Given the description of an element on the screen output the (x, y) to click on. 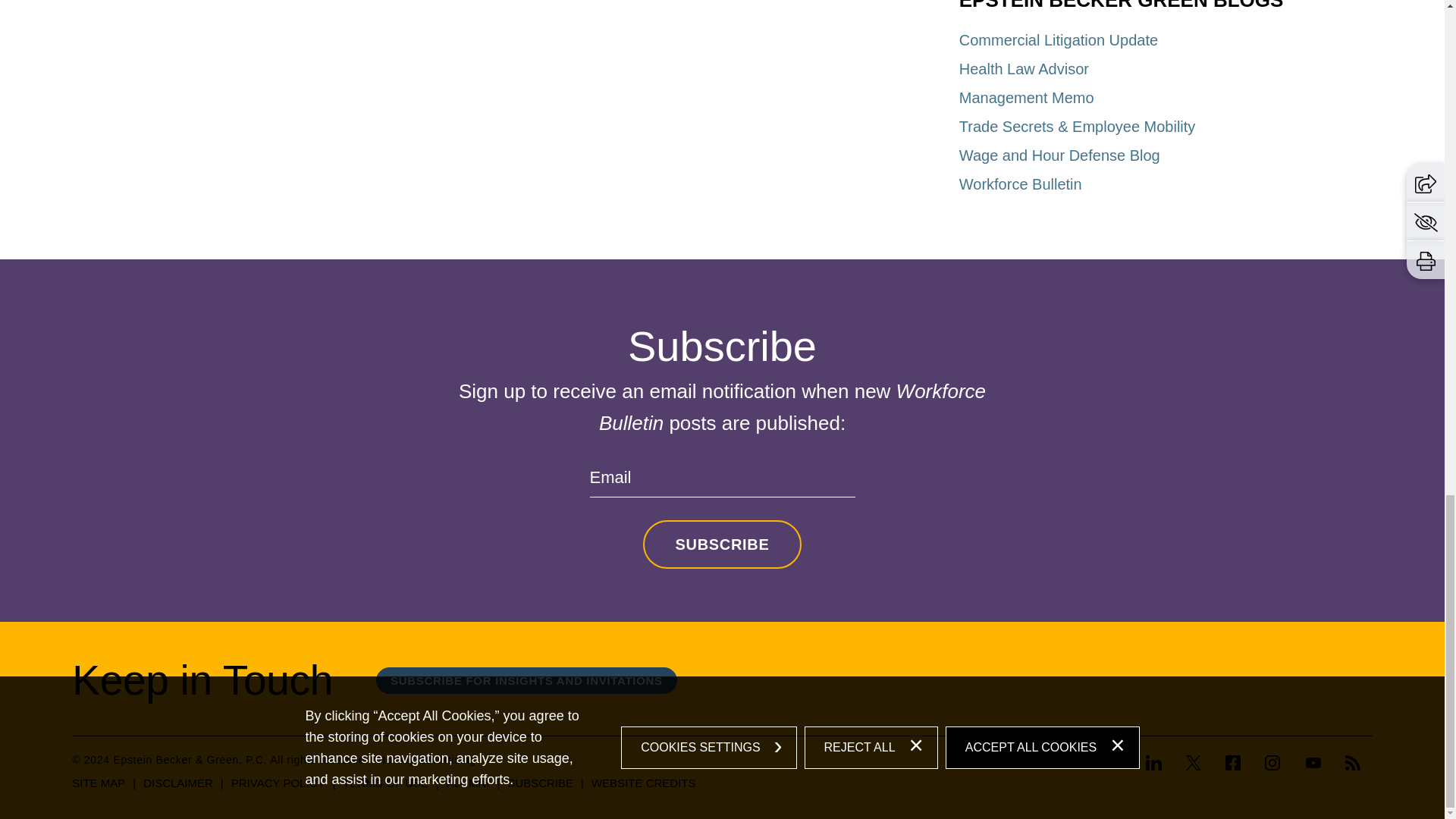
Facebook (1232, 764)
RSS (1352, 762)
Linkedin (1153, 762)
Youtube (1313, 762)
Facebook (1232, 762)
Twitter (1192, 764)
Instagram (1273, 764)
Linkedin (1159, 764)
Twitter (1193, 762)
Instagram (1273, 762)
